Given the description of an element on the screen output the (x, y) to click on. 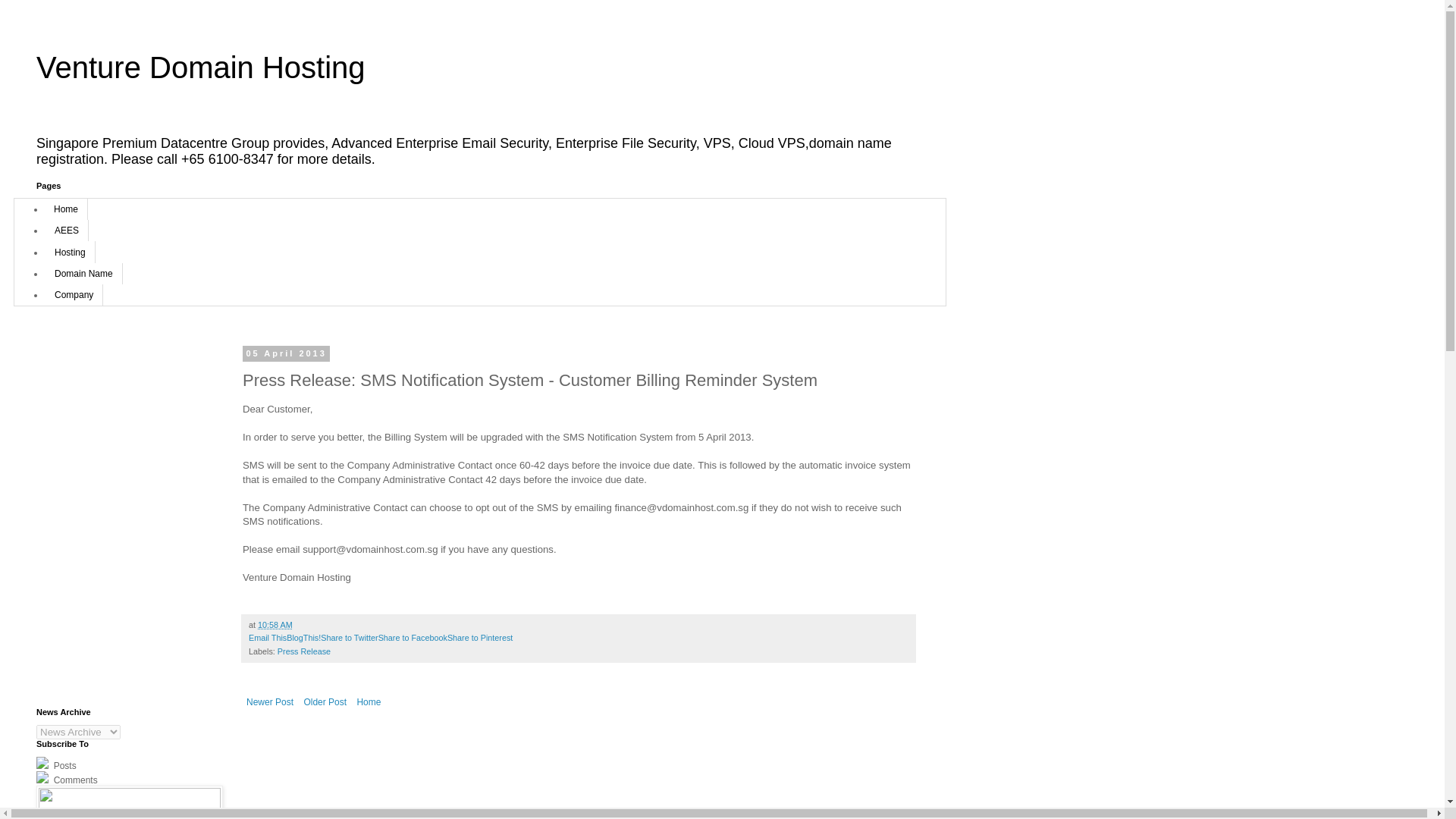
Share to Twitter (348, 637)
BlogThis! (303, 637)
Share to Facebook (412, 637)
10:58 AM (274, 624)
Email Post (301, 624)
BlogThis! (303, 637)
Share to Pinterest (479, 637)
Domain Name (83, 273)
Company (74, 294)
Home (368, 701)
Email This (267, 637)
Older Post (324, 701)
Press Release (304, 651)
Older Post (324, 701)
Newer Post (270, 701)
